Given the description of an element on the screen output the (x, y) to click on. 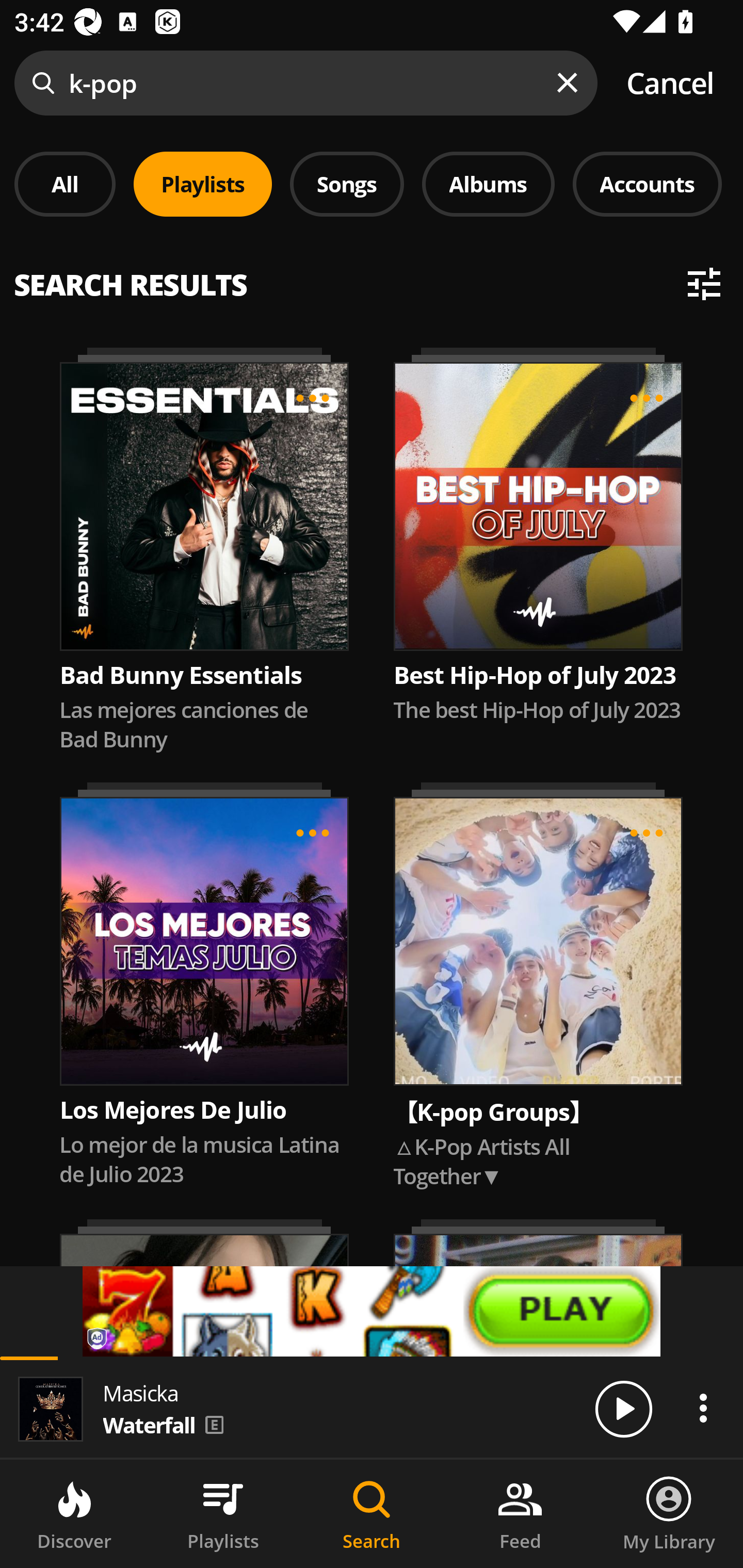
k-pop Cancel (371, 82)
Cancel (670, 82)
All (64, 184)
Playlists (202, 184)
Songs (346, 184)
Albums (488, 184)
Accounts (647, 184)
All Country Afrosounds Pop Caribbean (371, 275)
fsc (371, 1311)
Liftoff Privacy (97, 1339)
Actions (703, 1407)
Play/Pause (623, 1408)
Discover (74, 1513)
Playlists (222, 1513)
Search (371, 1513)
Feed (519, 1513)
My Library (668, 1513)
